Given the description of an element on the screen output the (x, y) to click on. 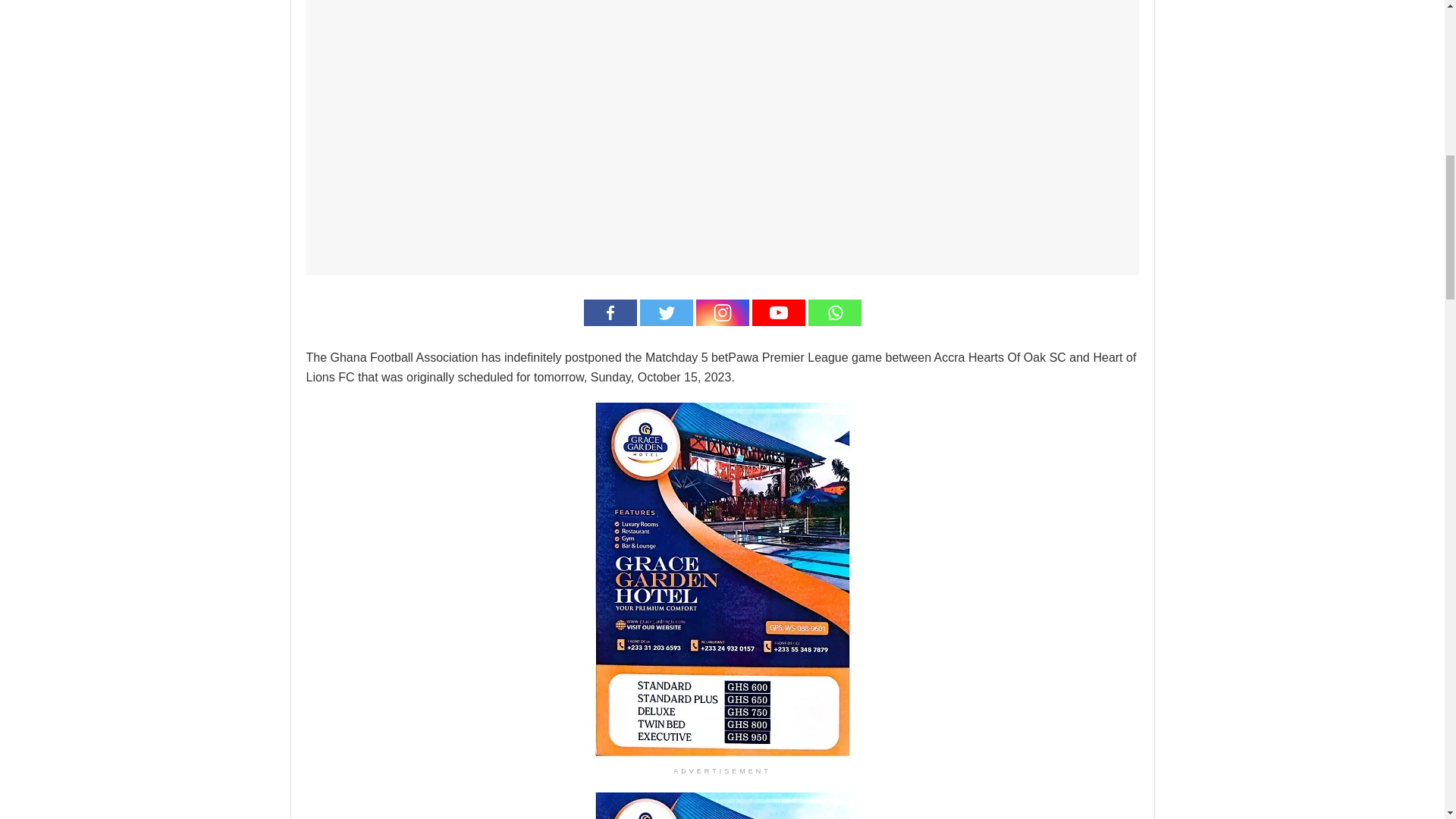
Twitter (666, 312)
Facebook (610, 312)
Whatsapp (834, 312)
Youtube (778, 312)
Instagram (722, 312)
